Given the description of an element on the screen output the (x, y) to click on. 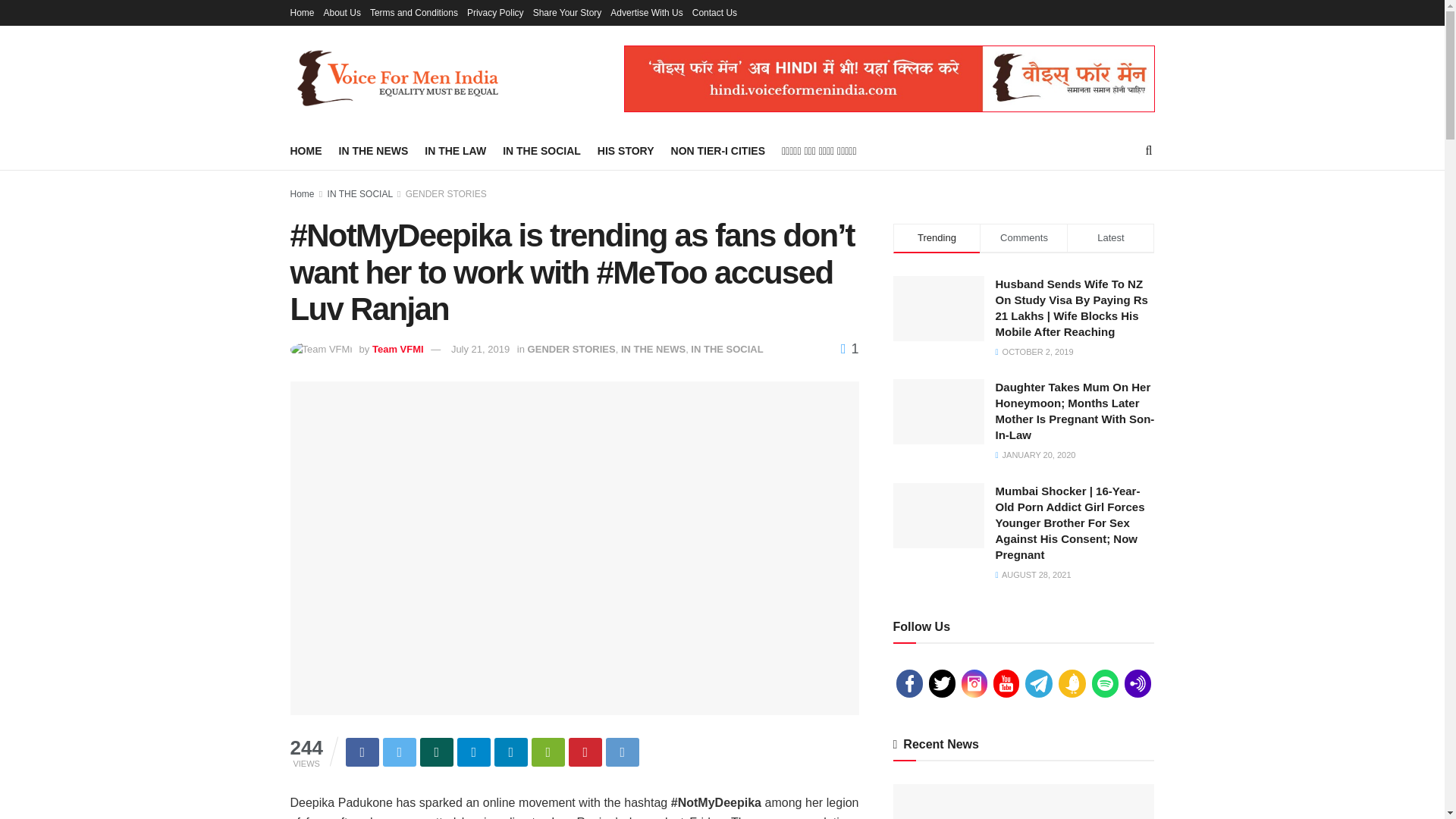
IN THE NEWS (372, 150)
Share Your Story (567, 12)
Contact Us (714, 12)
About Us (342, 12)
HOME (305, 150)
HIS STORY (624, 150)
IN THE SOCIAL (541, 150)
IN THE LAW (455, 150)
Privacy Policy (495, 12)
Advertise With Us (646, 12)
NON TIER-I CITIES (718, 150)
Terms and Conditions (413, 12)
Home (301, 12)
